Given the description of an element on the screen output the (x, y) to click on. 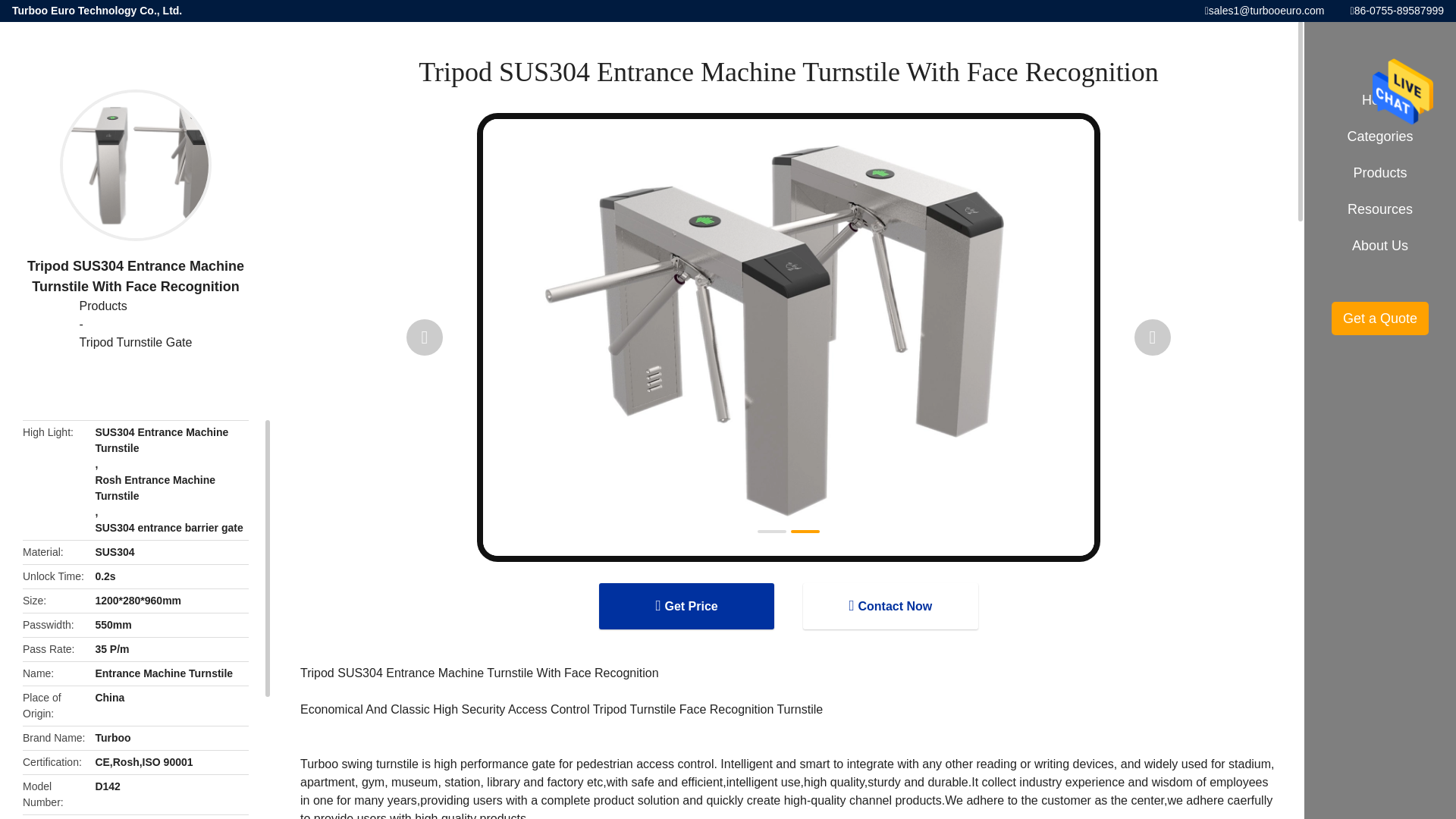
Get Price (685, 606)
Contact Now (889, 606)
Products (136, 306)
Home (1379, 99)
China Tripod Turnstile Gate Manufacturers (136, 342)
Products (136, 306)
Tripod Turnstile Gate (136, 342)
Categories (1379, 135)
